Given the description of an element on the screen output the (x, y) to click on. 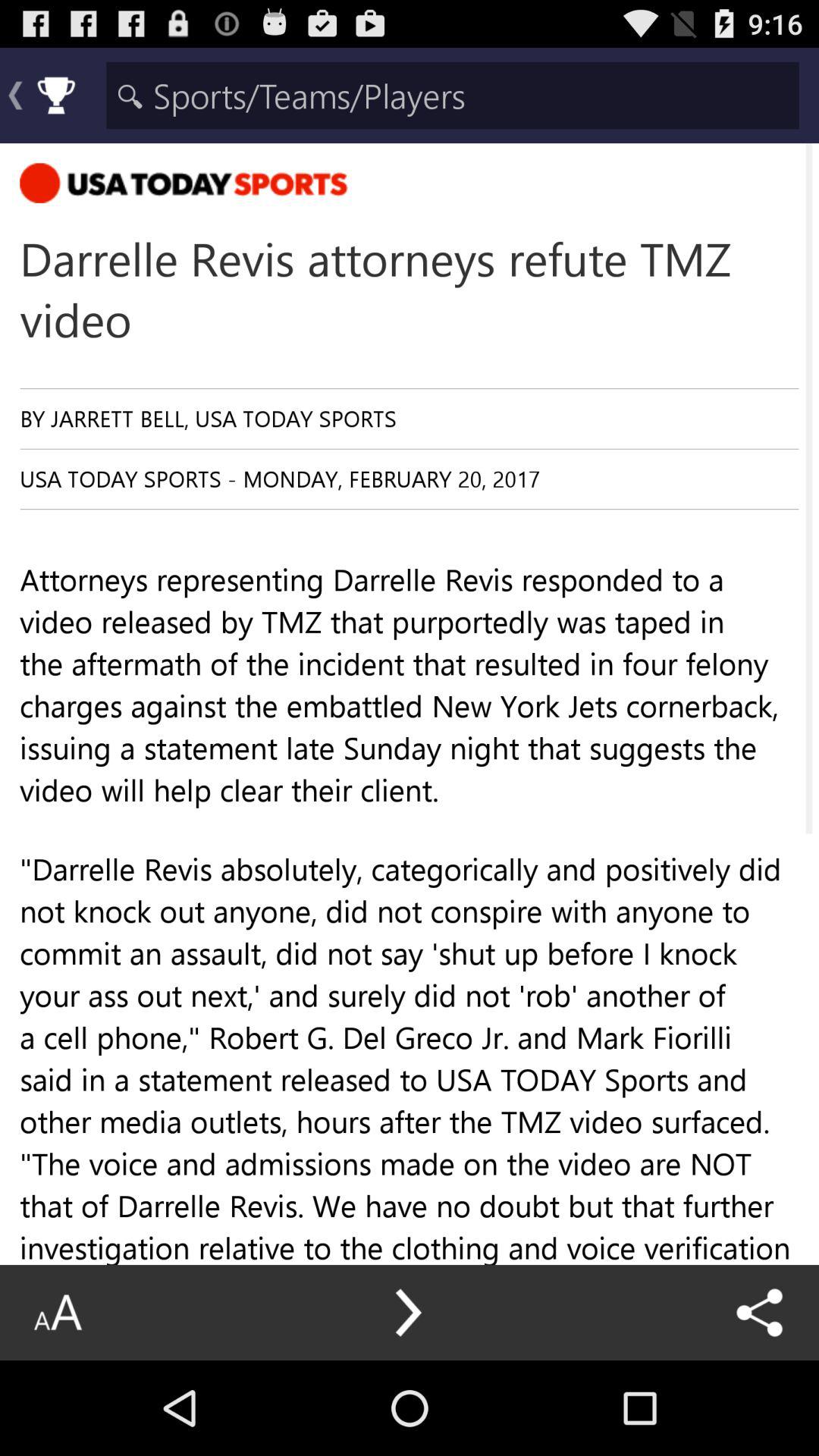
breadcrumbs (452, 95)
